Given the description of an element on the screen output the (x, y) to click on. 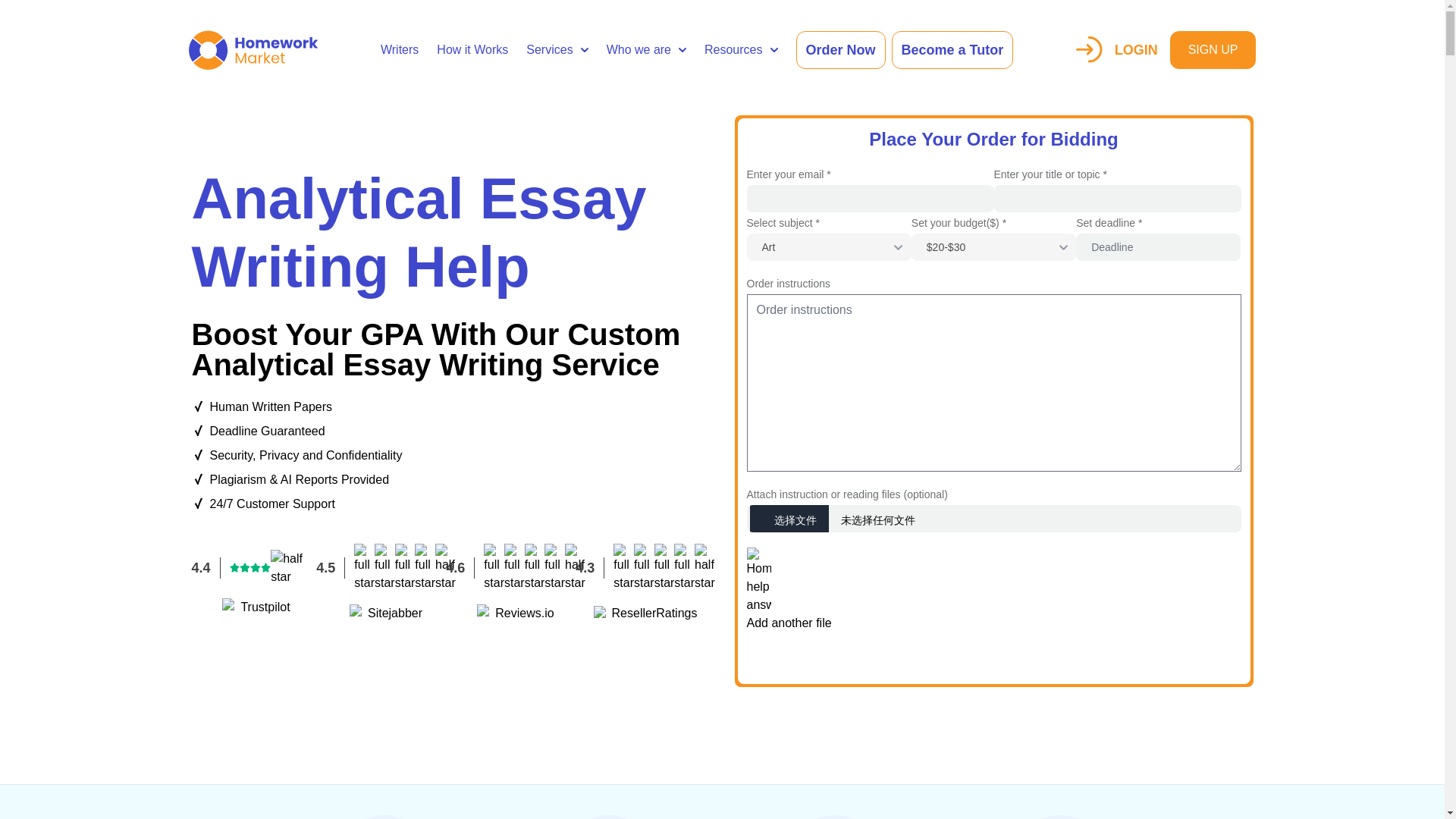
Writers (399, 49)
Services (556, 49)
LOGIN (1116, 49)
Who we are (646, 49)
Order Now (840, 49)
Post your homework (993, 656)
How it Works (472, 49)
SIGN UP (1213, 49)
Resources (740, 49)
Become a Tutor (952, 49)
